Given the description of an element on the screen output the (x, y) to click on. 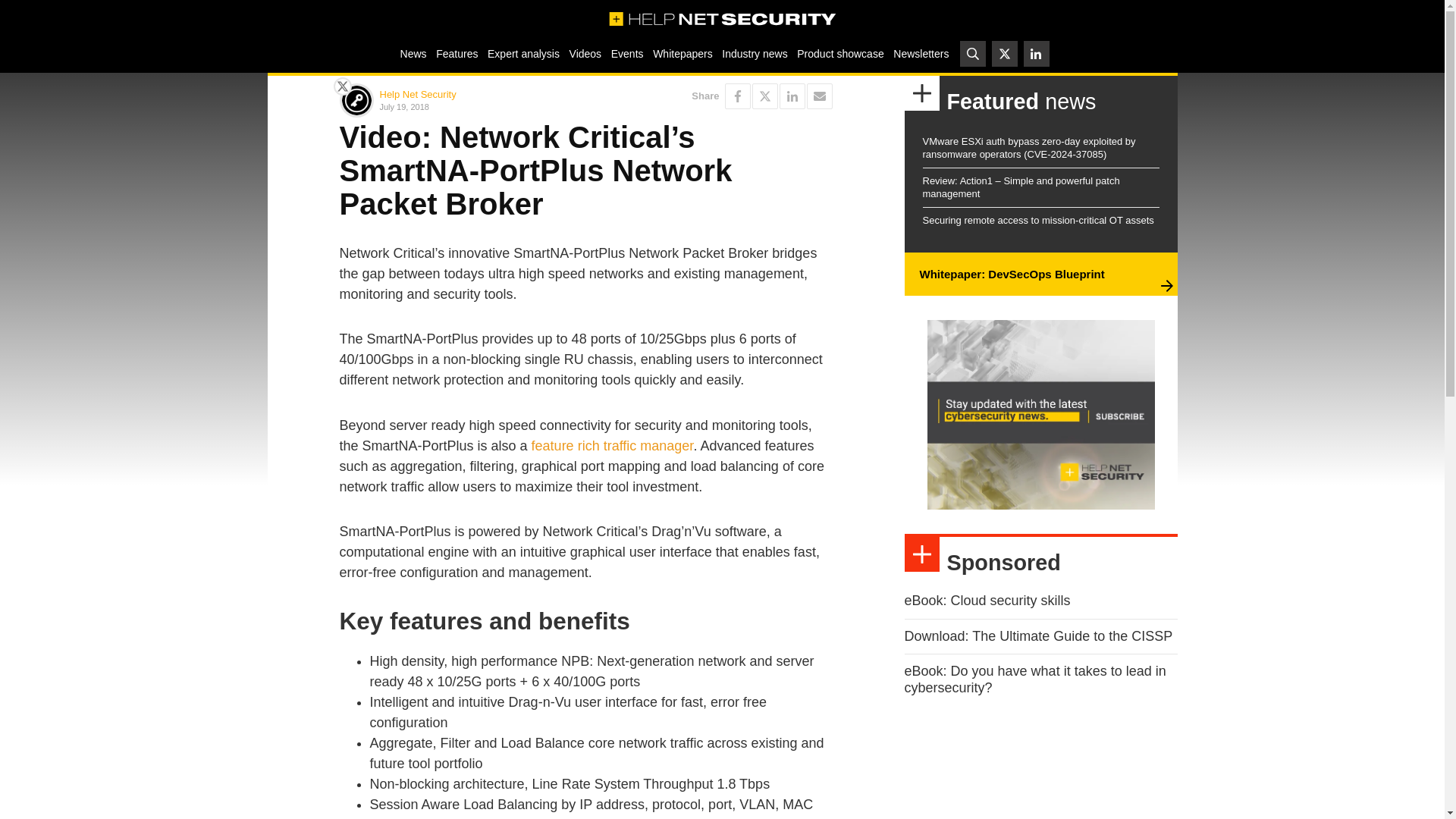
Expert analysis (523, 53)
Industry news (754, 53)
Features (456, 53)
eBook: Cloud security skills (987, 600)
Securing remote access to mission-critical OT assets (1037, 220)
Product showcase (840, 53)
Videos (584, 53)
eBook: Do you have what it takes to lead in cybersecurity? (1035, 679)
Download: The Ultimate Guide to the CISSP (1038, 635)
Whitepaper: DevSecOps Blueprint (1010, 273)
Help Net Security (416, 93)
Events (626, 53)
News (412, 53)
Newsletters (920, 53)
